Given the description of an element on the screen output the (x, y) to click on. 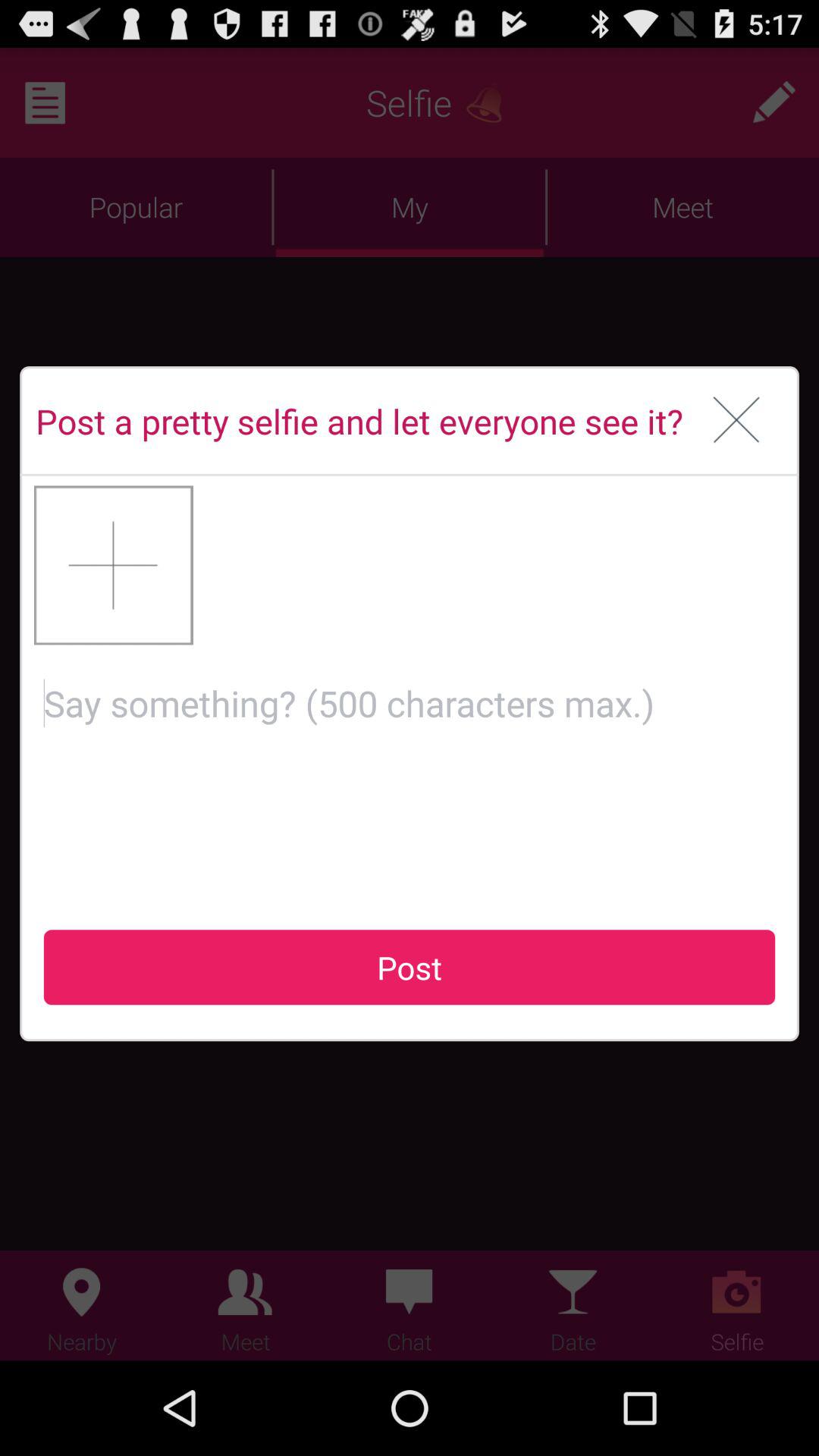
press icon next to post a pretty icon (736, 421)
